Given the description of an element on the screen output the (x, y) to click on. 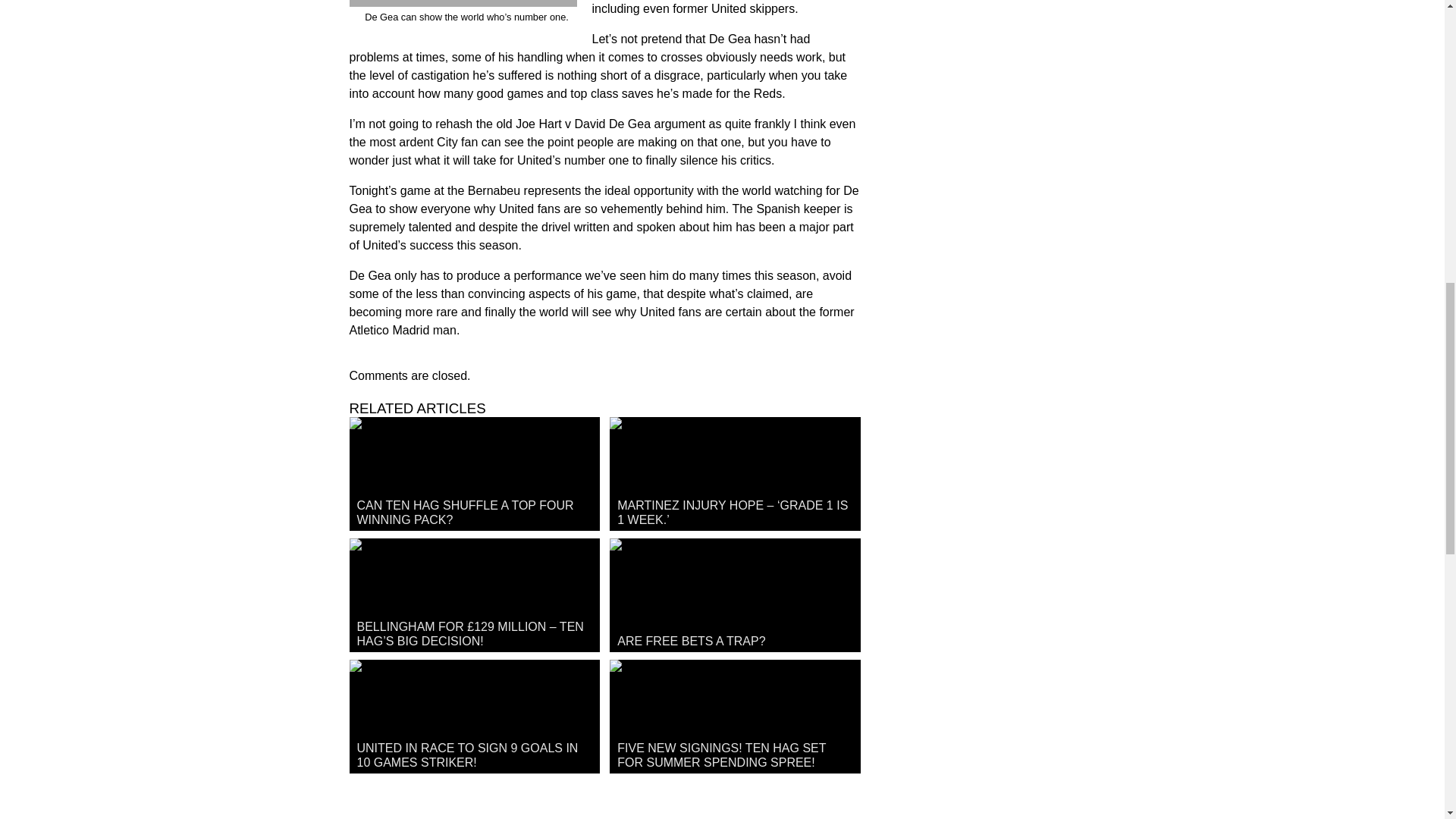
FIVE NEW SIGNINGS! TEN HAG SET FOR SUMMER SPENDING SPREE! (735, 716)
ARE FREE BETS A TRAP? (735, 594)
CAN TEN HAG SHUFFLE A TOP FOUR WINNING PACK? (473, 473)
UNITED IN RACE TO SIGN 9 GOALS IN 10 GAMES STRIKER! (473, 716)
